Given the description of an element on the screen output the (x, y) to click on. 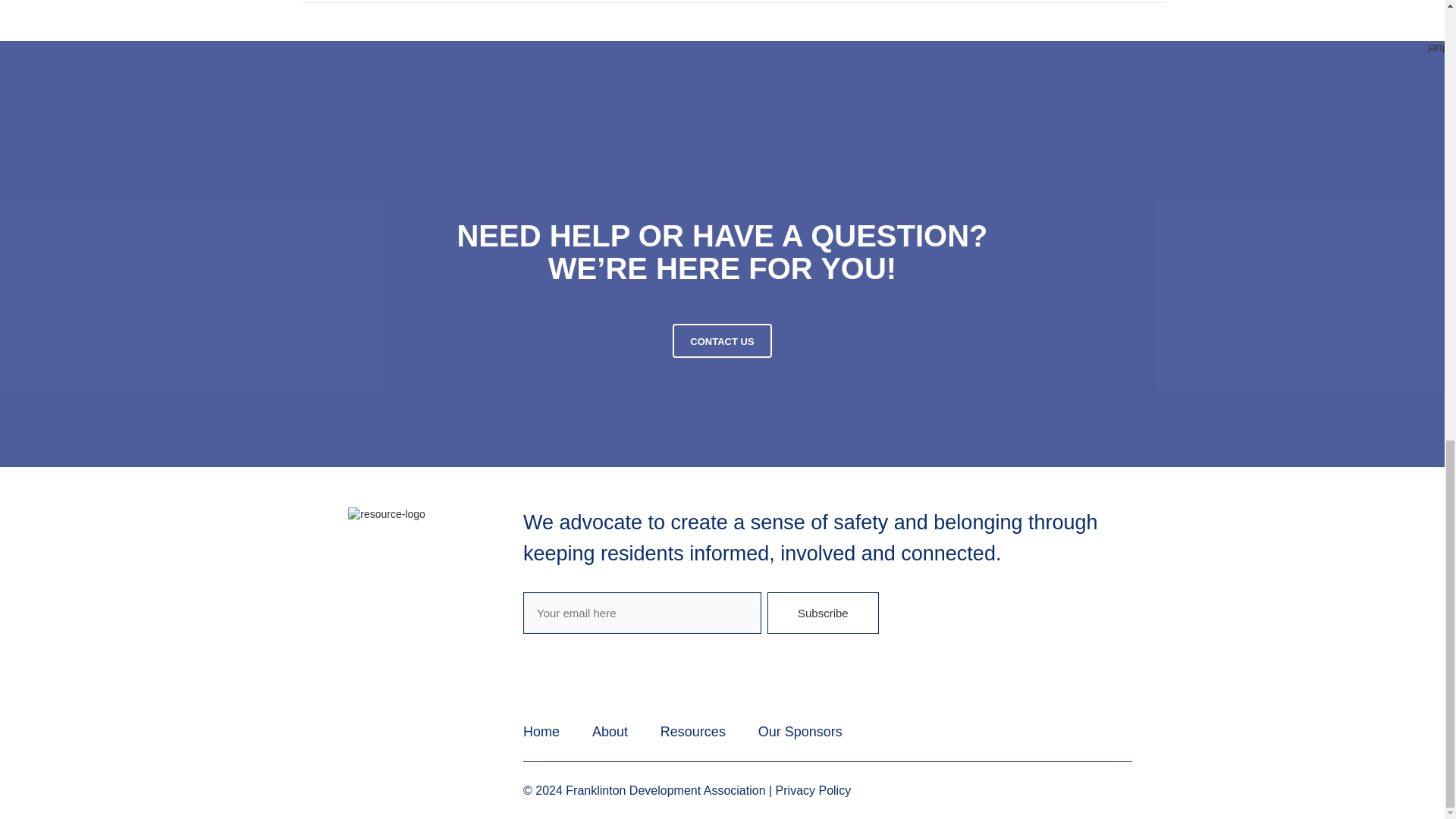
Home (540, 731)
Subscribe (823, 612)
CONTACT US (722, 340)
Subscribe (823, 612)
